Given the description of an element on the screen output the (x, y) to click on. 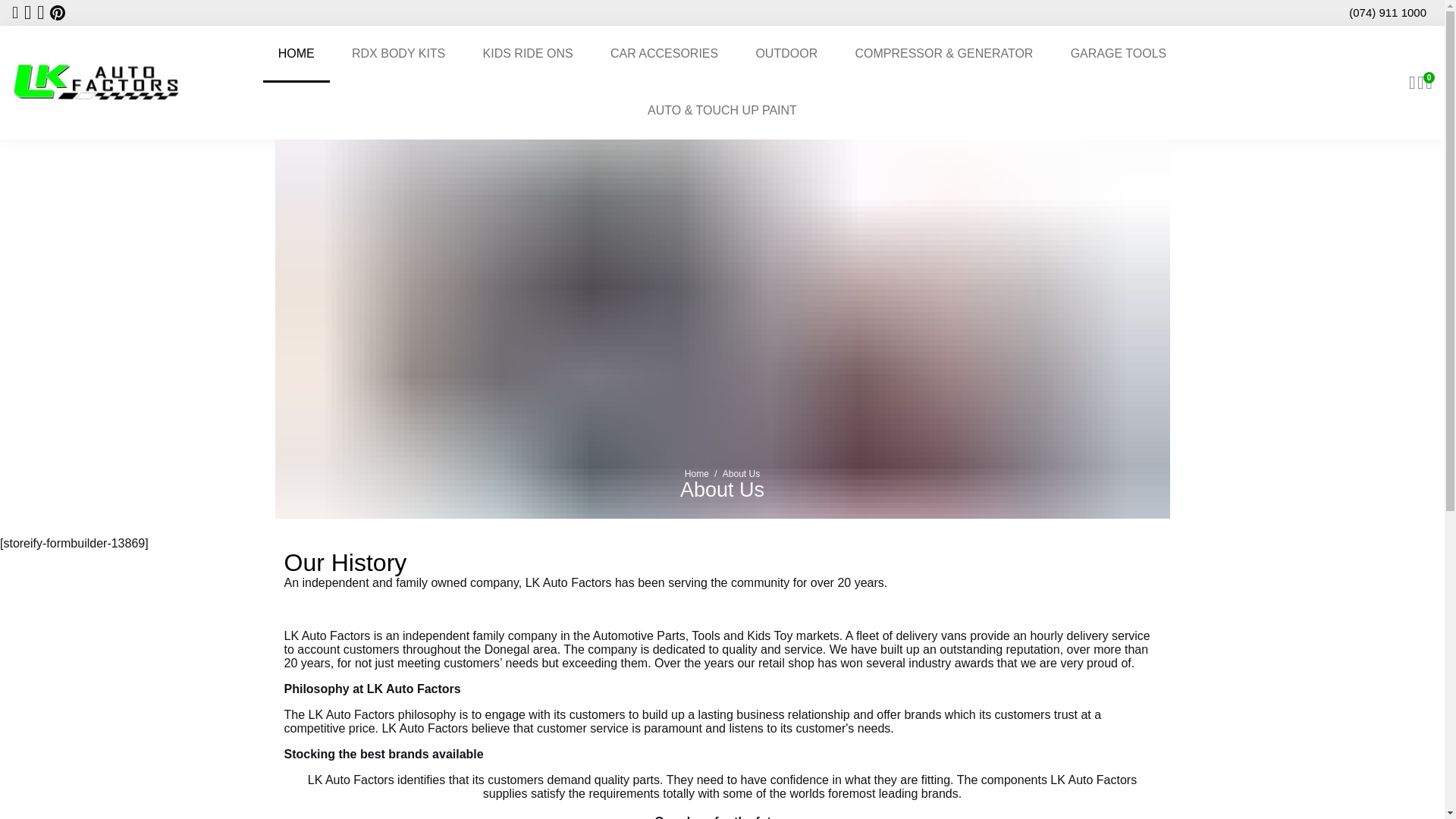
RDX BODY KITS (398, 53)
GARAGE TOOLS (1118, 53)
Home (696, 473)
OUTDOOR (785, 53)
CAR ACCESORIES (664, 53)
HOME (296, 53)
KIDS RIDE ONS (527, 53)
